Given the description of an element on the screen output the (x, y) to click on. 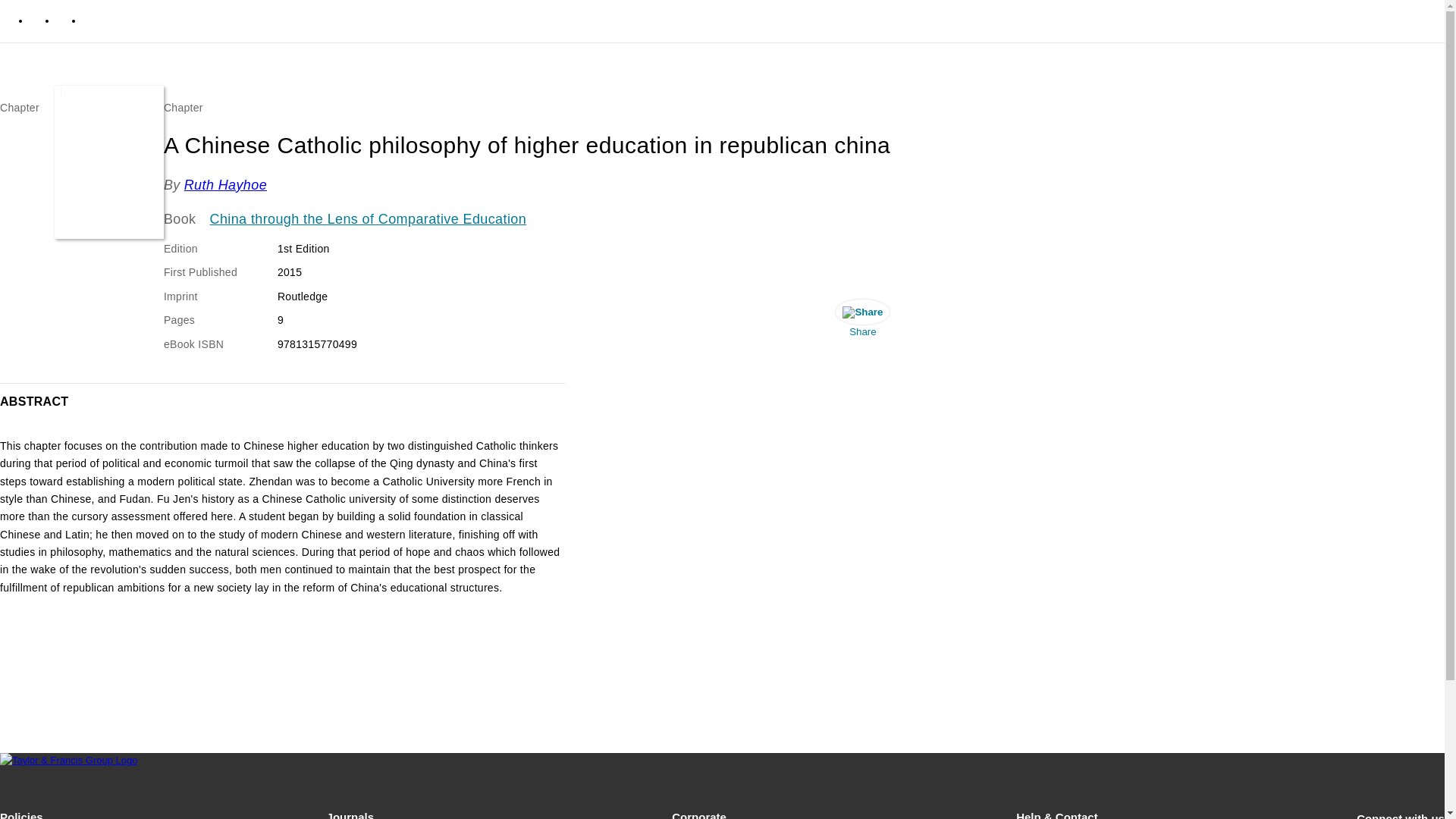
China through the Lens of Comparative Education (368, 219)
Share (862, 321)
Ruth Hayhoe (225, 184)
